Given the description of an element on the screen output the (x, y) to click on. 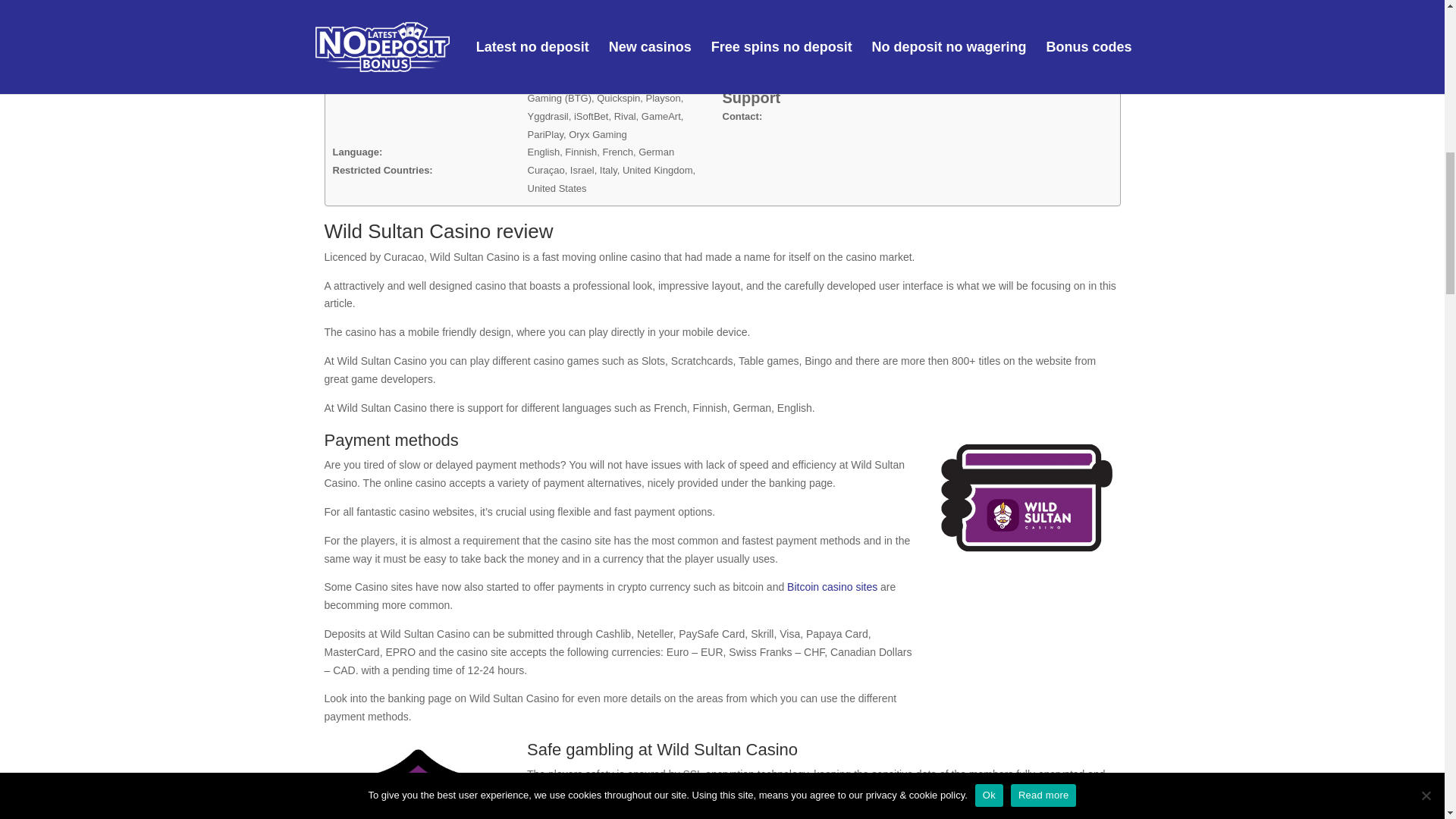
Bitcoin casino sites (832, 586)
